Given the description of an element on the screen output the (x, y) to click on. 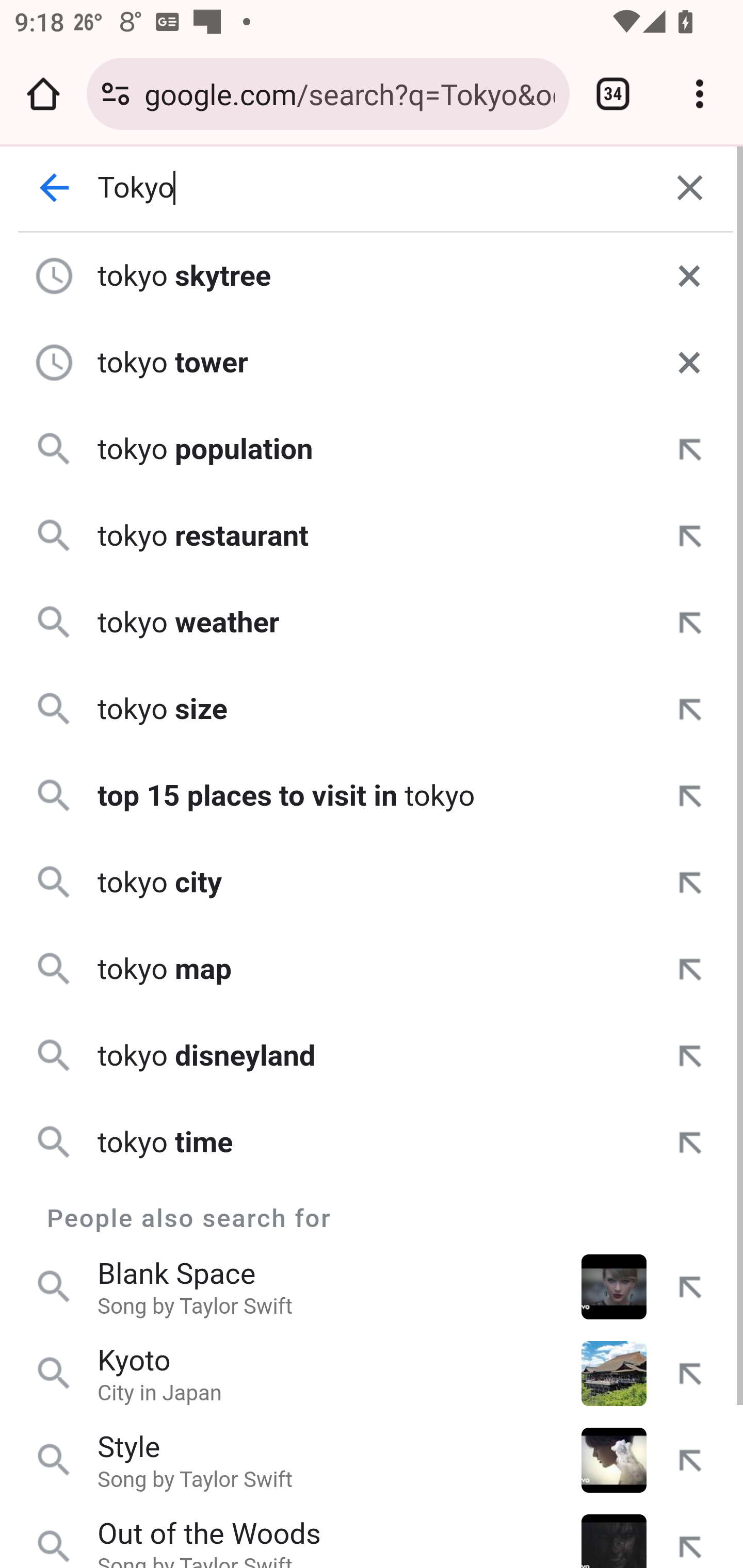
Open the home page (43, 93)
Connection is secure (115, 93)
Switch or close tabs (612, 93)
Customize and control Google Chrome (699, 93)
